Given the description of an element on the screen output the (x, y) to click on. 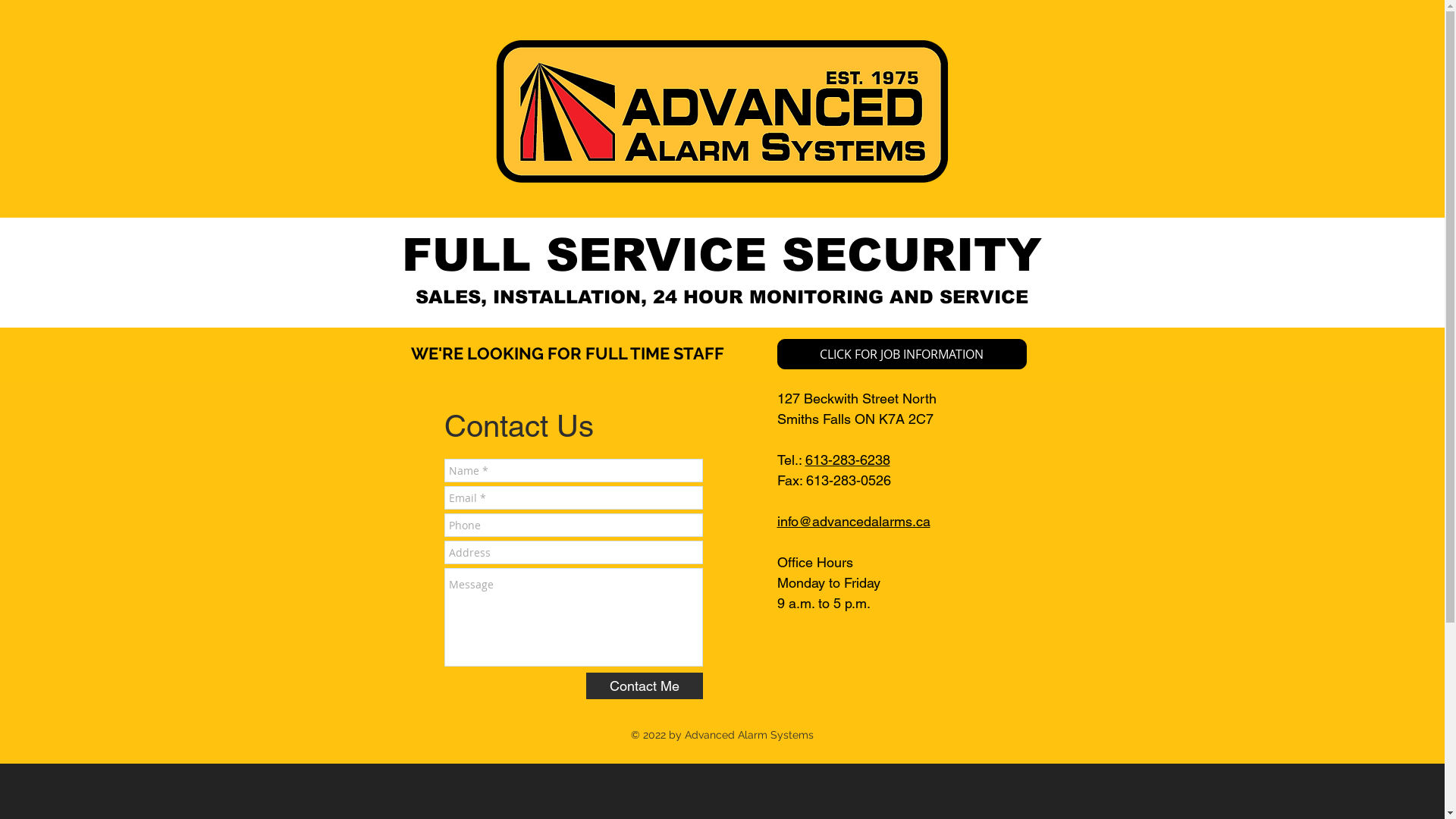
613-283-6238 Element type: text (847, 459)
CLICK FOR JOB INFORMATION Element type: text (901, 353)
Contact Me Element type: text (643, 685)
info@advancedalarms.ca Element type: text (852, 521)
TWIPLA (Visitor Analytics) Element type: hover (344, 532)
